Given the description of an element on the screen output the (x, y) to click on. 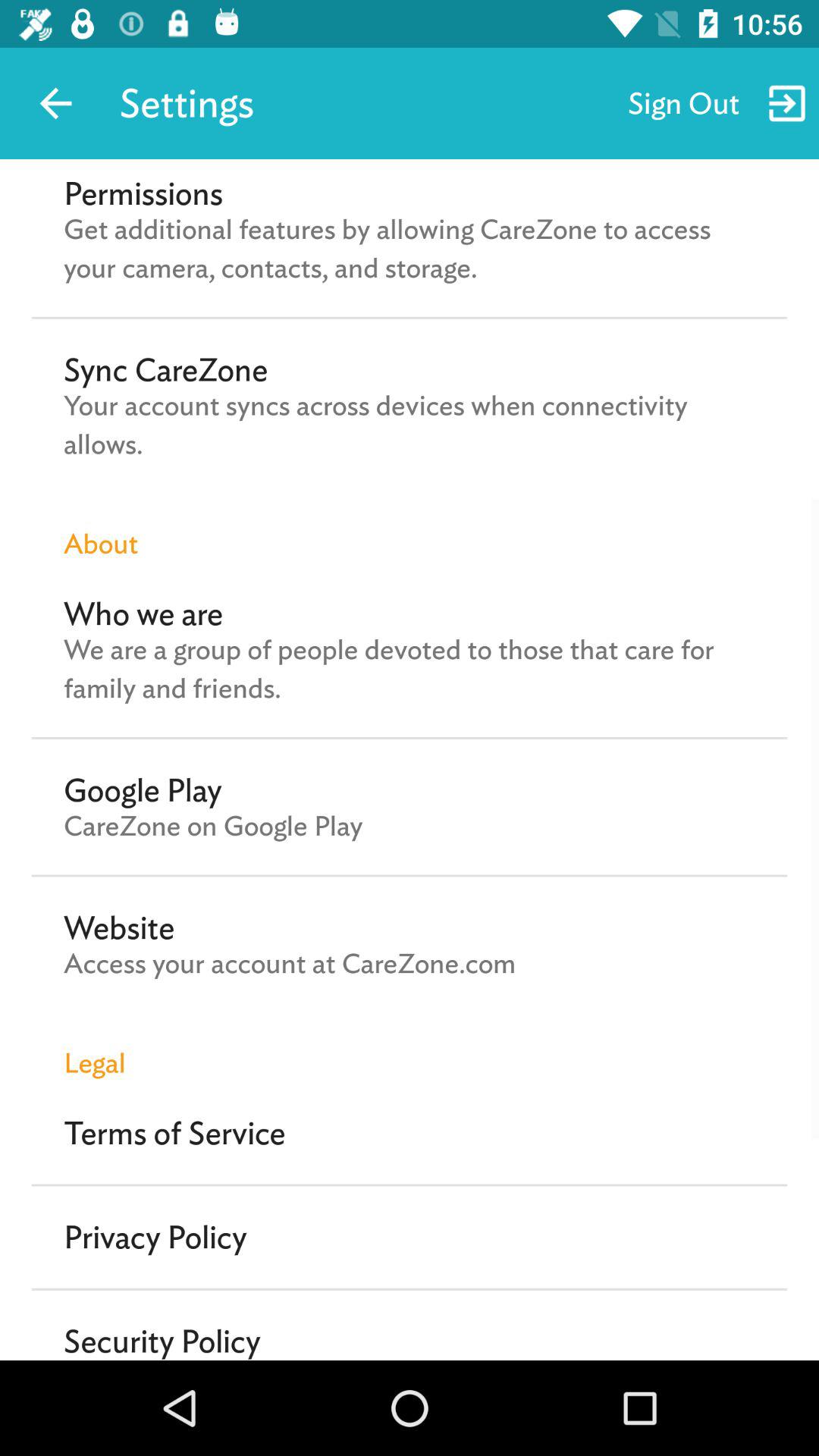
turn on the terms of service item (174, 1133)
